Given the description of an element on the screen output the (x, y) to click on. 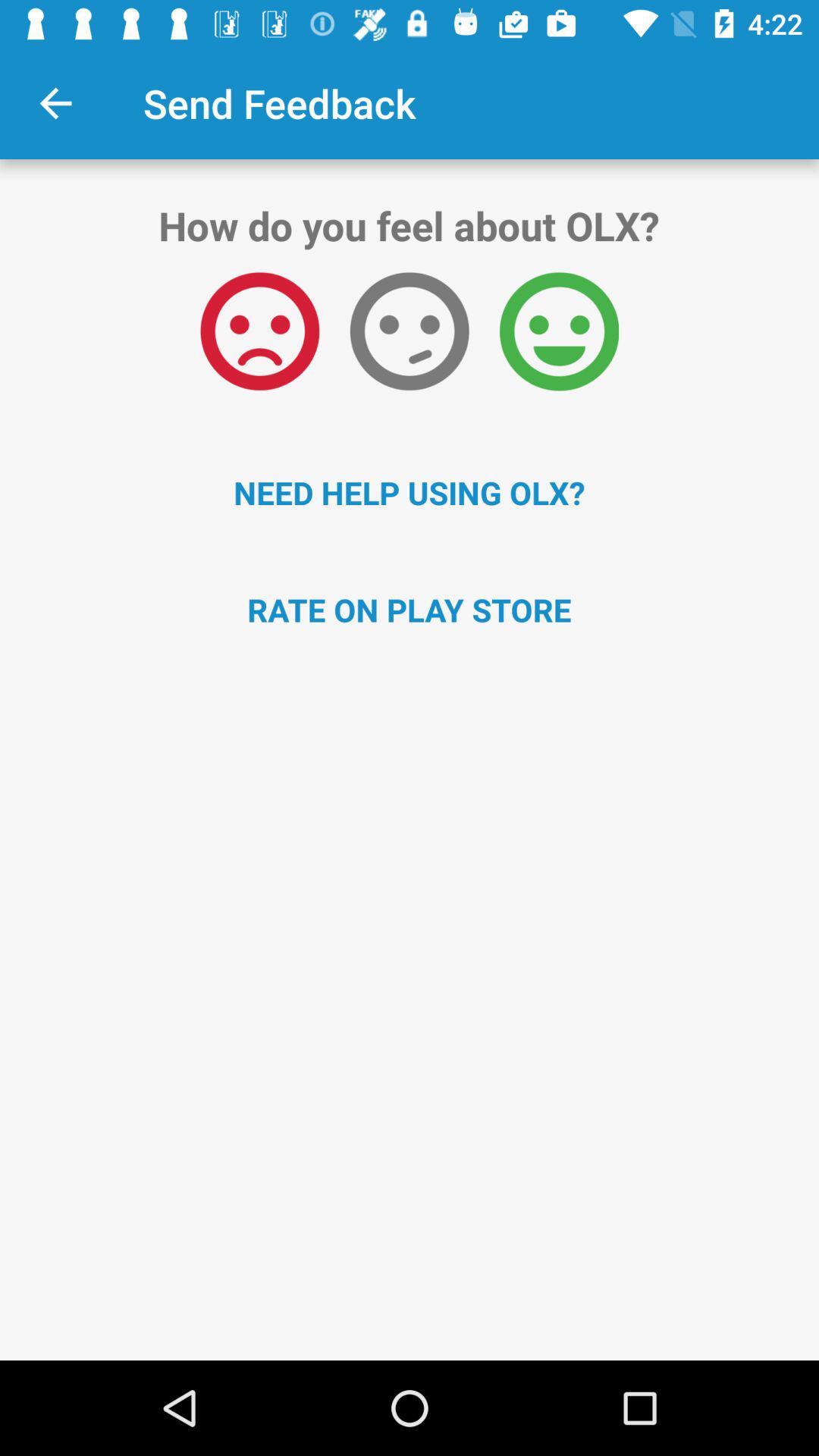
flip to rate on play (409, 609)
